Given the description of an element on the screen output the (x, y) to click on. 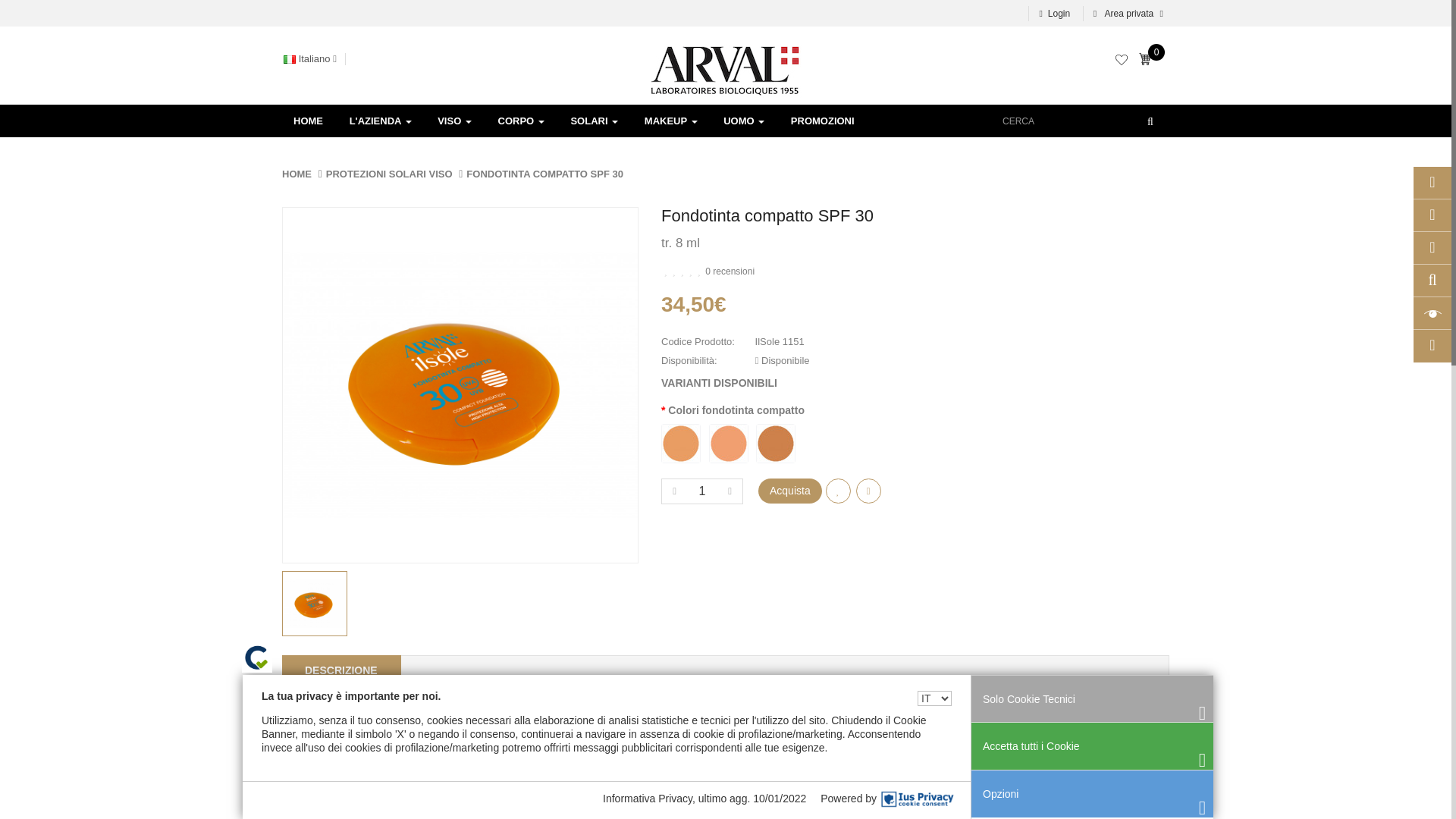
Fondotinta compatto SPF 30 (314, 603)
1 (702, 491)
Area privata (1126, 13)
Italiano (289, 59)
L'AZIENDA (380, 120)
VISO (454, 120)
0 (1147, 60)
Italiano  (314, 58)
Fondotinta compatto SPF 30 (314, 603)
Page 12 (725, 764)
